Given the description of an element on the screen output the (x, y) to click on. 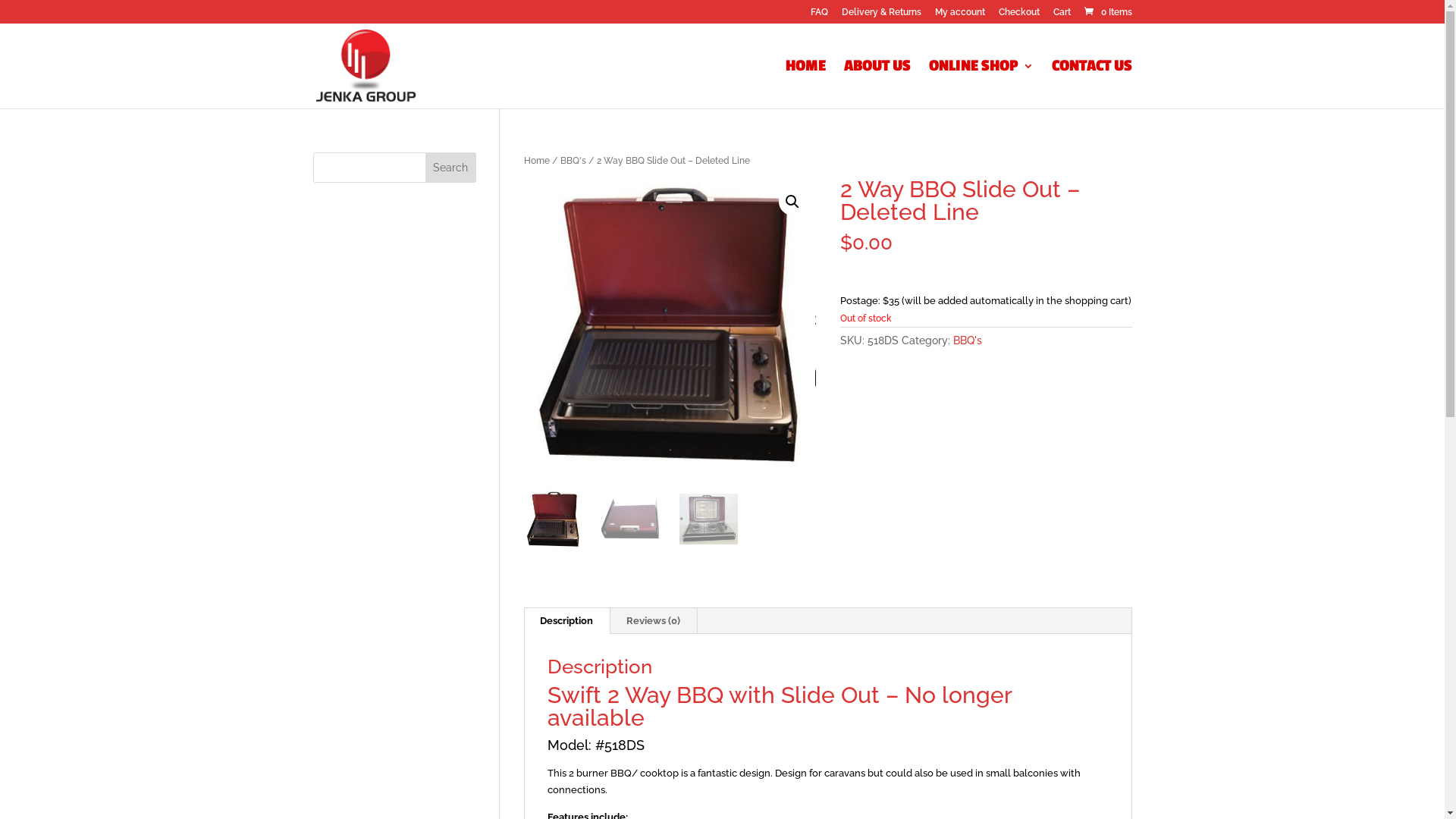
Reviews (0) Element type: text (652, 620)
Description Element type: text (566, 620)
BBQ's Element type: text (967, 340)
ONLINE SHOP Element type: text (980, 84)
My account Element type: text (959, 15)
Delivery & Returns Element type: text (881, 15)
Home Element type: text (536, 160)
Cart Element type: text (1061, 15)
Checkout Element type: text (1017, 15)
0 Items Element type: text (1106, 11)
2-Way-BBQ-Slide-out-Jenka-Caravan3 Element type: hover (961, 324)
CONTACT US Element type: text (1091, 84)
2-Way-BBQ-Slide-out-Jenka-Caravan4 Element type: hover (669, 324)
Search Element type: text (450, 167)
ABOUT US Element type: text (876, 84)
HOME Element type: text (805, 84)
FAQ Element type: text (818, 15)
BBQ's Element type: text (573, 160)
